Given the description of an element on the screen output the (x, y) to click on. 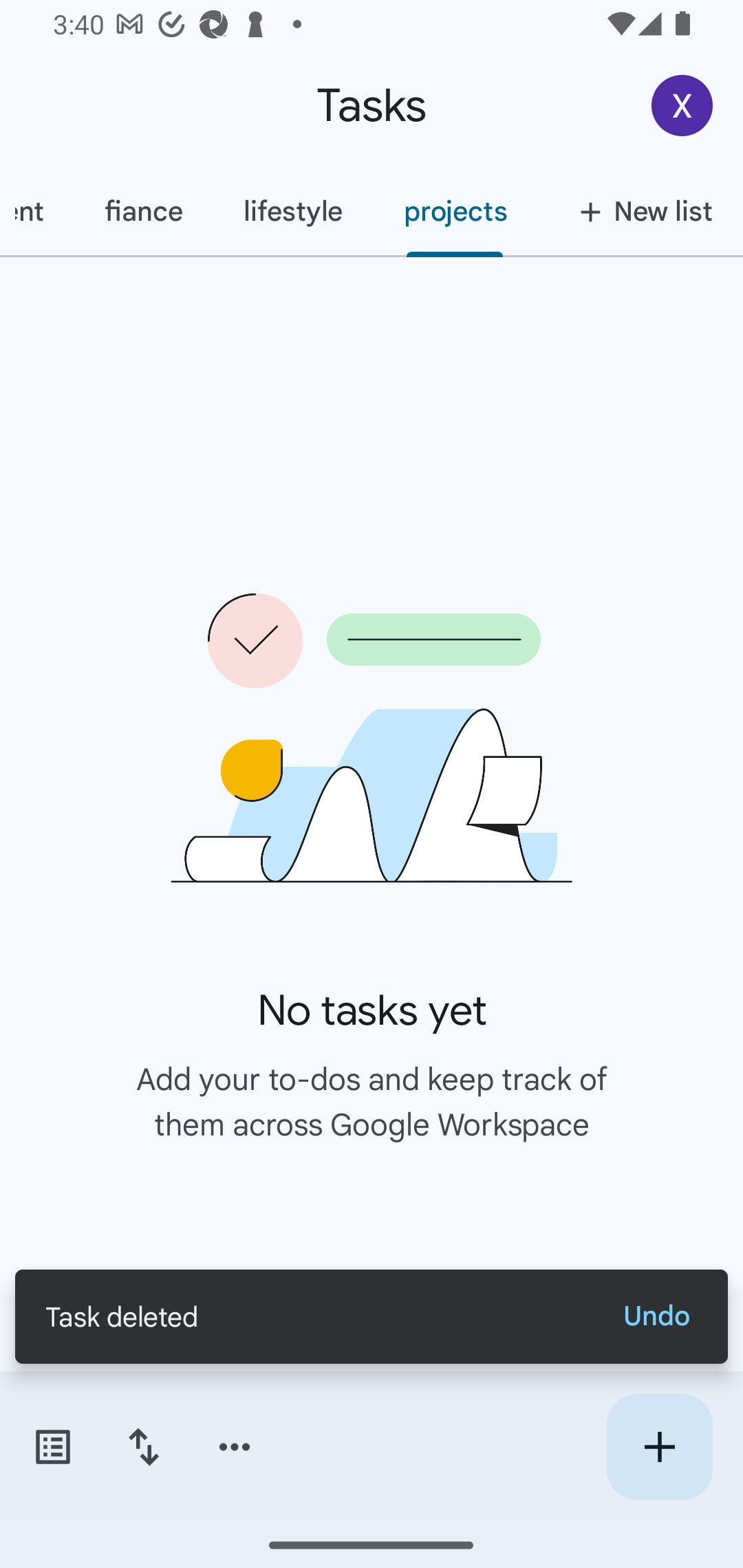
fiance (142, 211)
lifestyle (292, 211)
New list (640, 211)
Undo (656, 1316)
Switch task lists (52, 1447)
Create new task (659, 1446)
Change sort order (143, 1446)
More options (234, 1446)
